Given the description of an element on the screen output the (x, y) to click on. 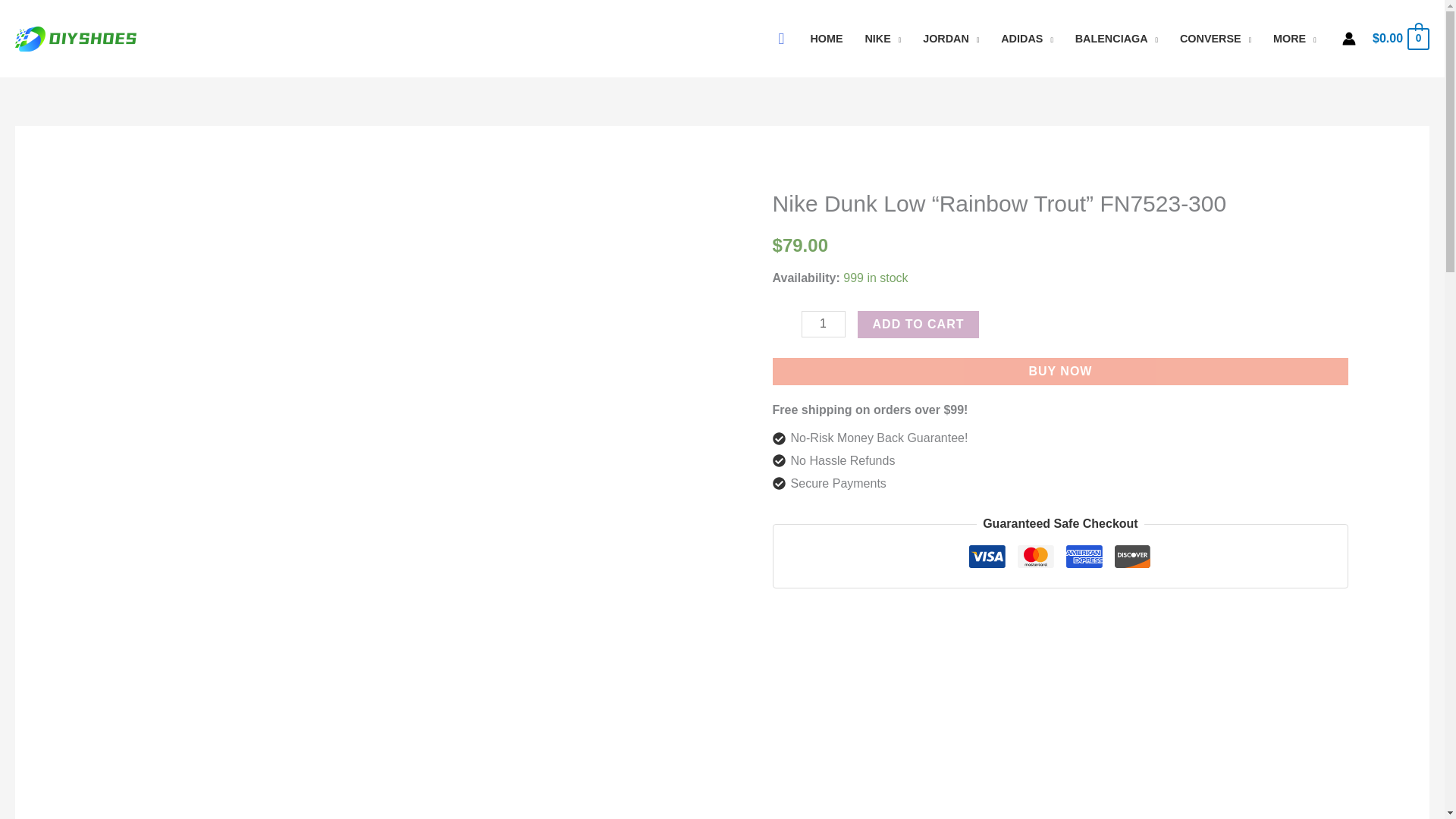
JORDAN (951, 38)
1 (823, 324)
ADIDAS (1027, 38)
NIKE (882, 38)
HOME (826, 38)
